Given the description of an element on the screen output the (x, y) to click on. 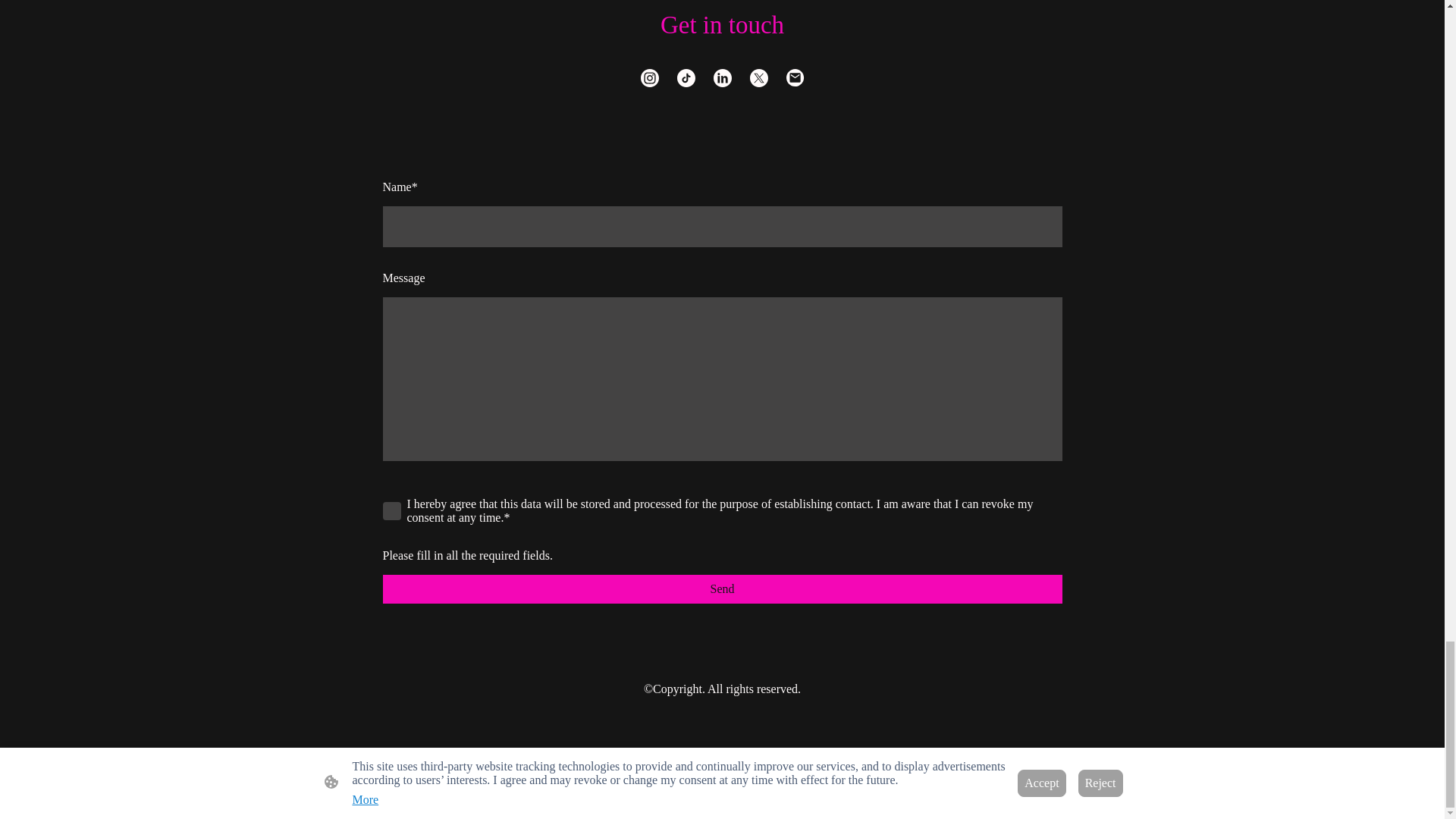
Send (721, 588)
